Given the description of an element on the screen output the (x, y) to click on. 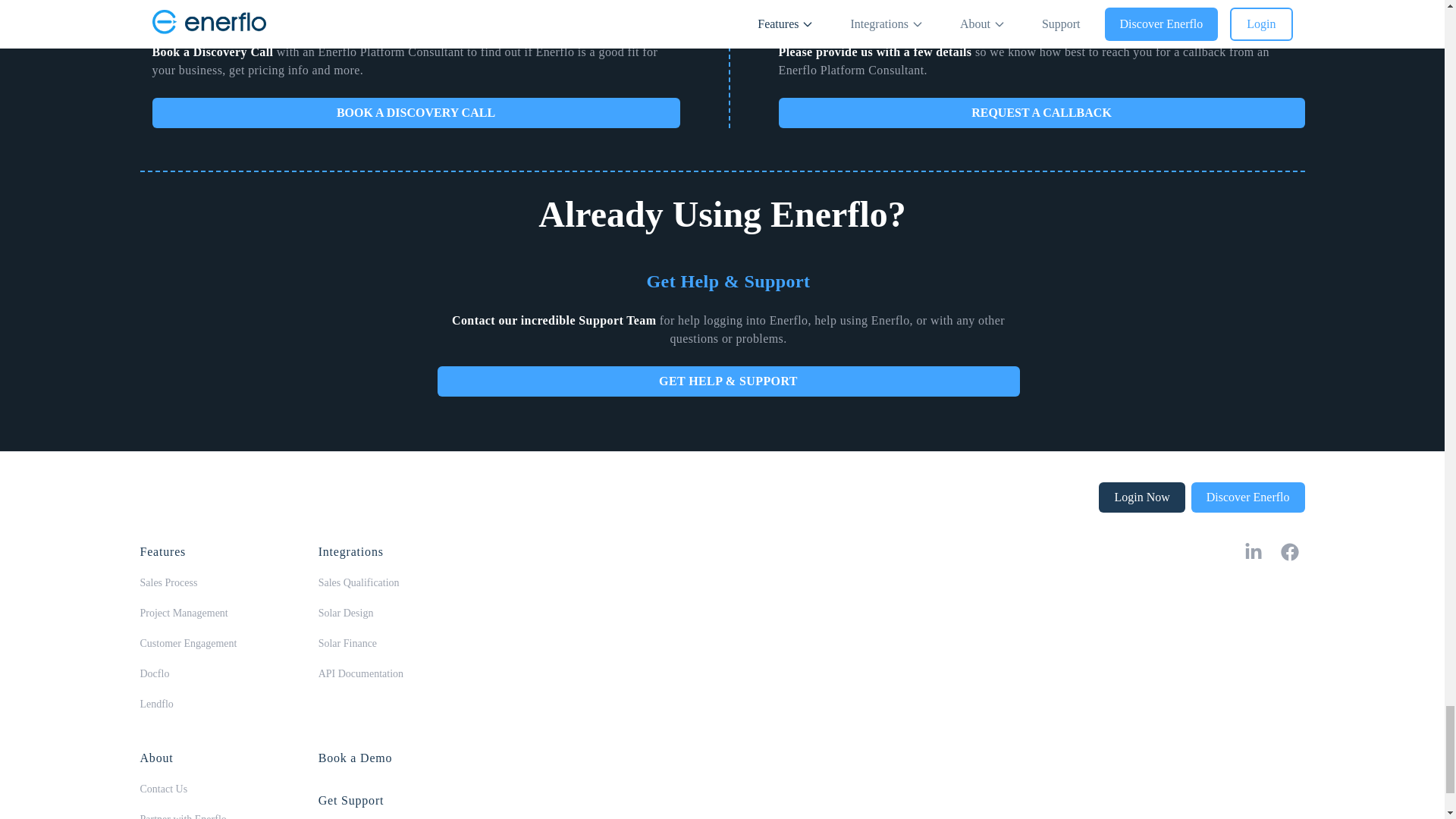
Solar Design (346, 613)
About (156, 757)
Discover Enerflo (1247, 497)
Lendflo (156, 704)
REQUEST A CALLBACK (1040, 112)
Sales Process (167, 582)
Integrations (351, 551)
BOOK A DISCOVERY CALL (415, 112)
Customer Engagement (187, 643)
Sales Qualification (358, 582)
Docflo (153, 673)
Login Now (1142, 497)
Get Support (351, 799)
API Documentation (360, 673)
Contact Us (163, 788)
